Given the description of an element on the screen output the (x, y) to click on. 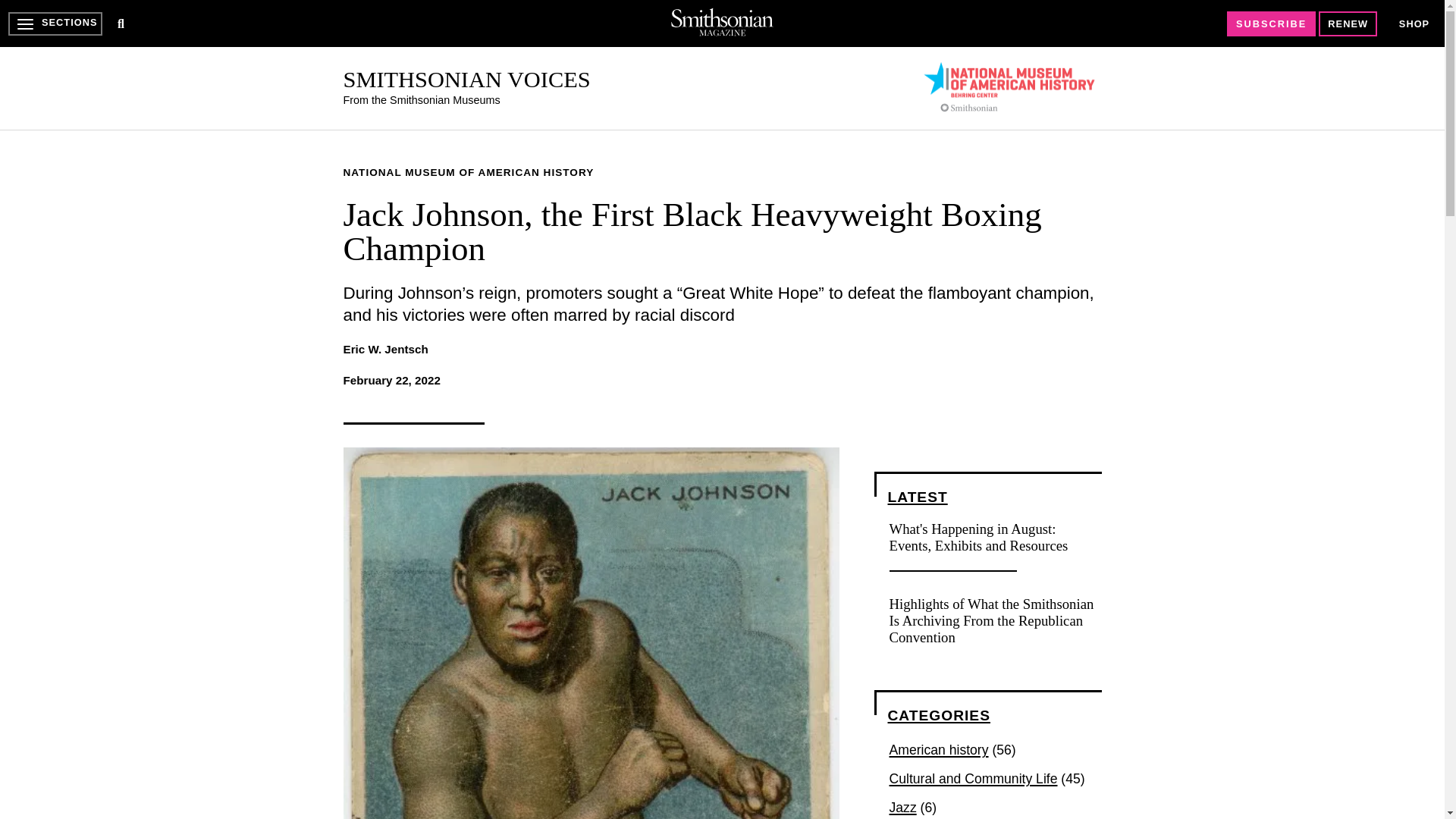
SECTIONS (55, 23)
SHOP (1414, 23)
SUBSCRIBE (1271, 23)
RENEW (1347, 23)
SUBSCRIBE (1271, 23)
SHOP (1413, 23)
RENEW (1348, 23)
